Given the description of an element on the screen output the (x, y) to click on. 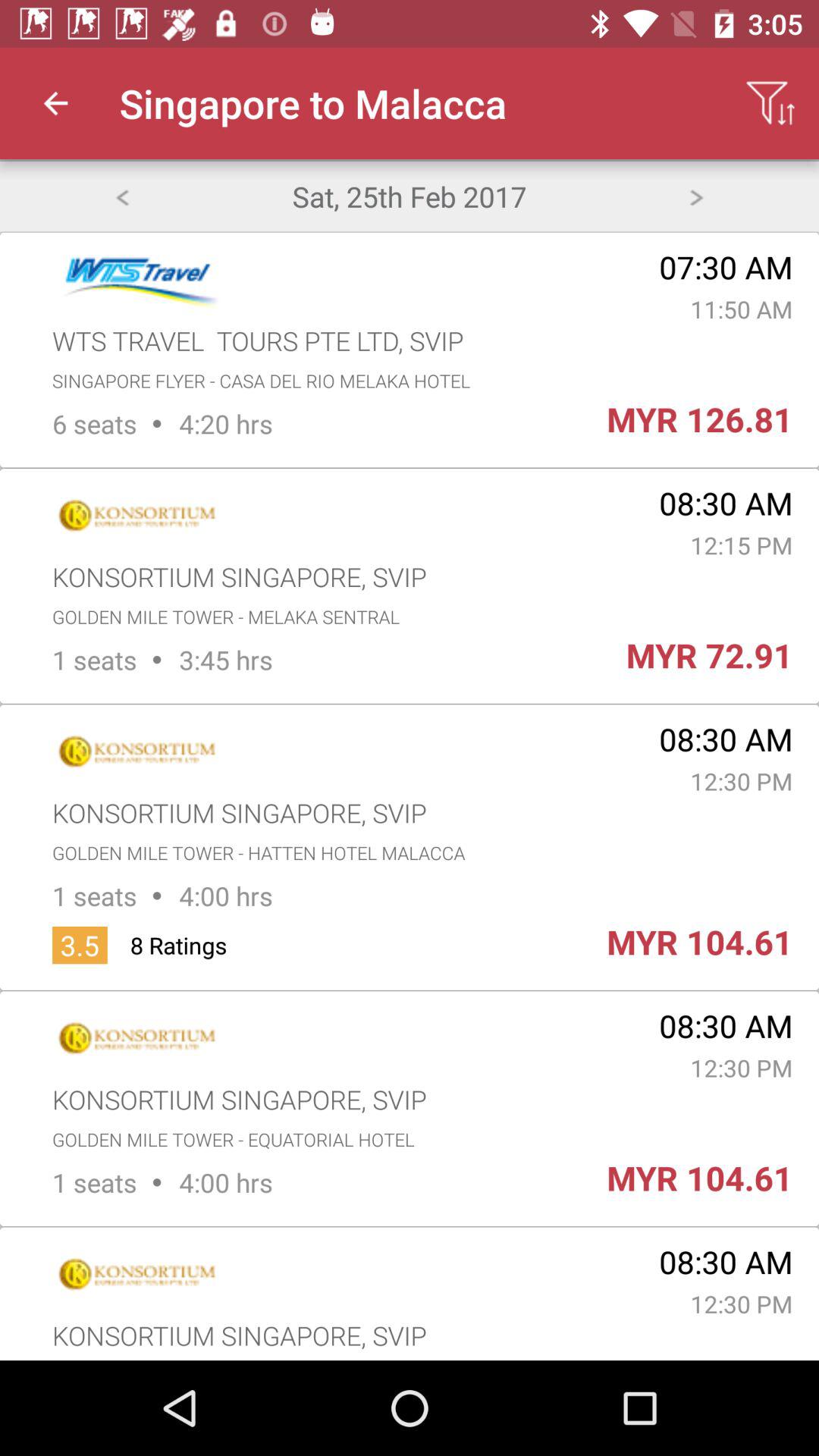
back page (121, 196)
